Given the description of an element on the screen output the (x, y) to click on. 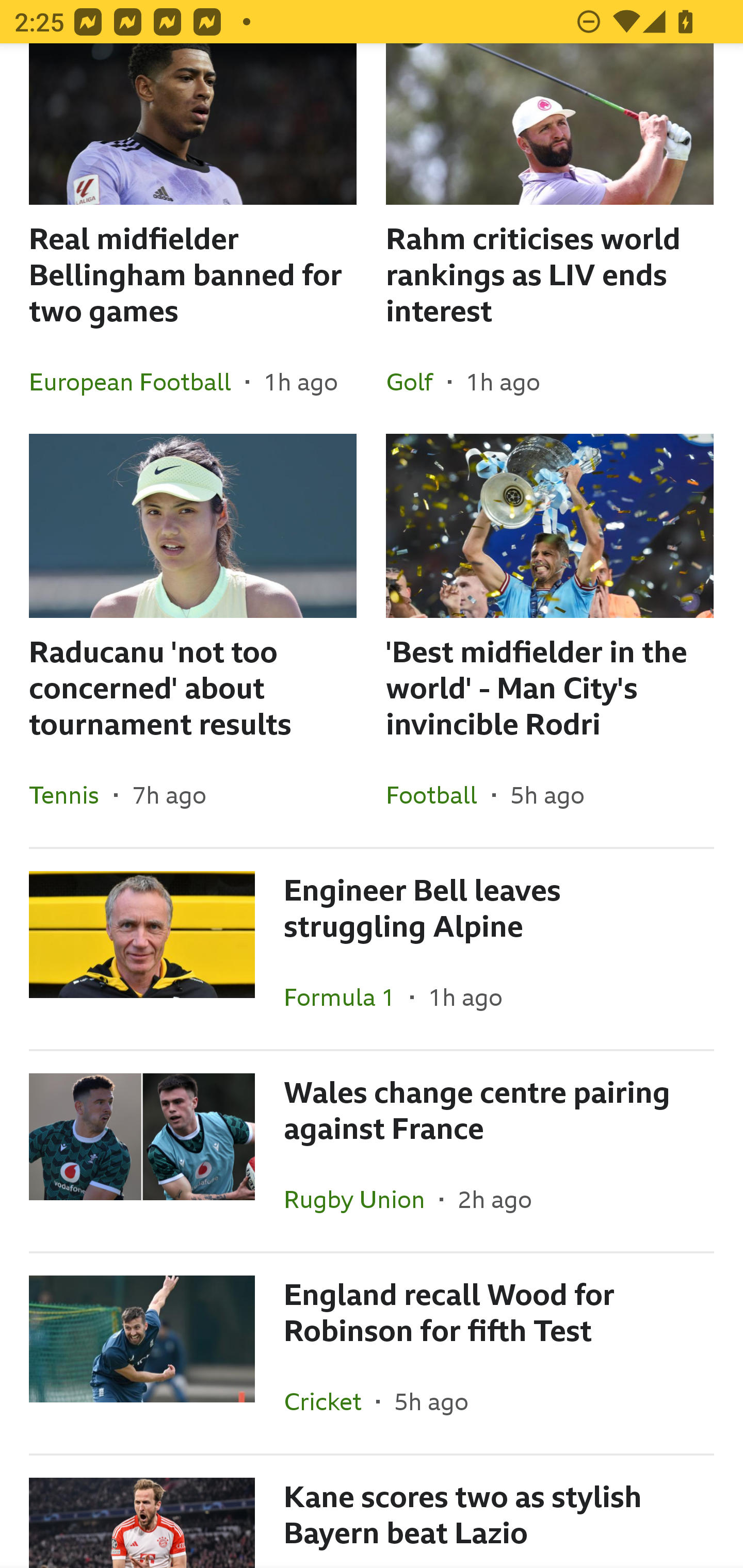
European Football In the section European Football (136, 381)
Golf In the section Golf (416, 381)
Tennis In the section Tennis (70, 794)
Football In the section Football (438, 794)
Formula 1 In the section Formula 1 (346, 996)
Rugby Union In the section Rugby Union (361, 1199)
Cricket In the section Cricket (329, 1401)
